Given the description of an element on the screen output the (x, y) to click on. 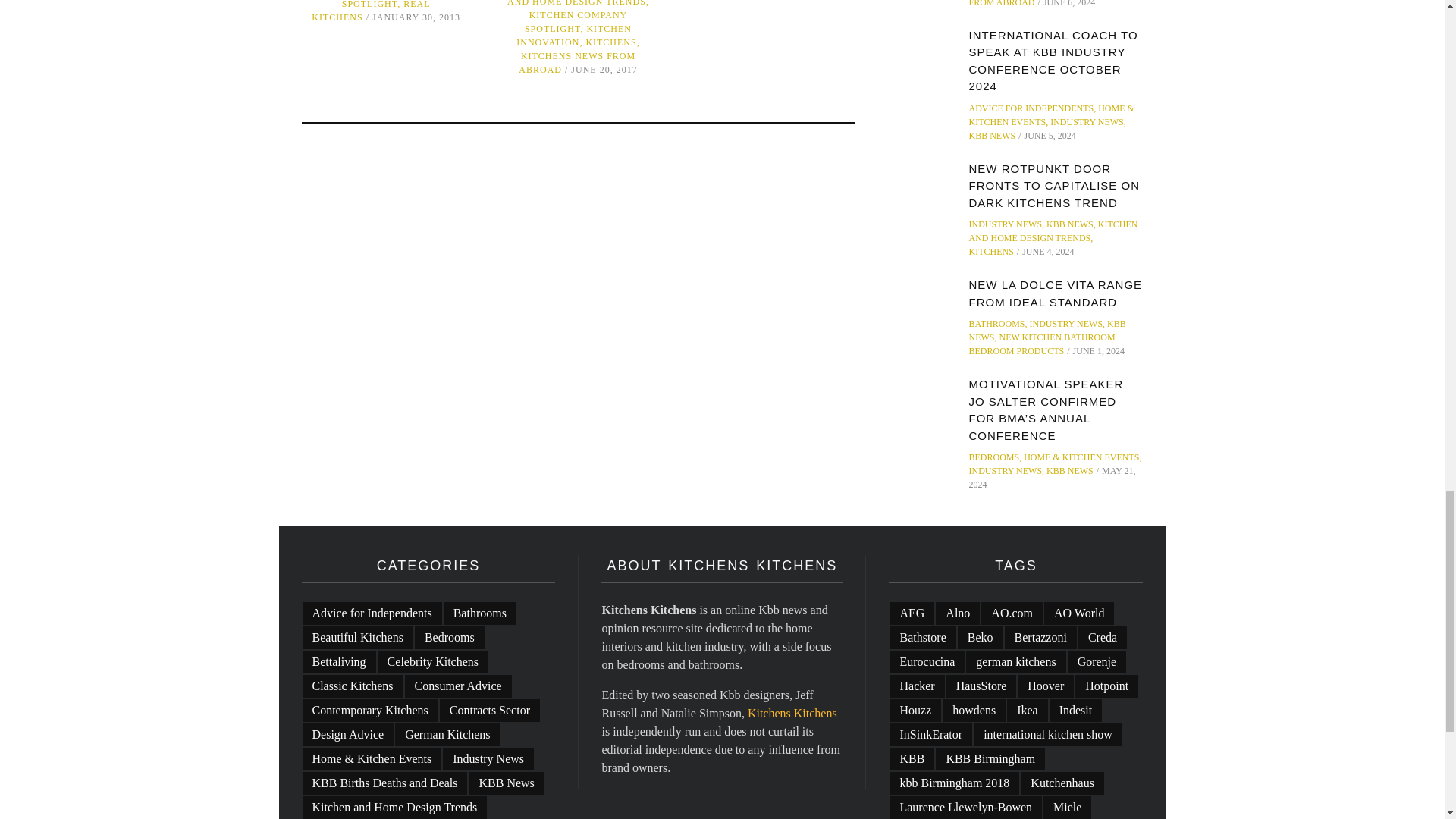
KITCHEN COMPANY SPOTLIGHT (575, 21)
REAL KITCHENS (370, 11)
KITCHEN INNOVATION (573, 35)
KITCHEN COMPANY SPOTLIGHT (385, 4)
KITCHENS (610, 41)
KITCHENS NEWS FROM ABROAD (576, 62)
KITCHEN AND HOME DESIGN TRENDS (576, 3)
